Given the description of an element on the screen output the (x, y) to click on. 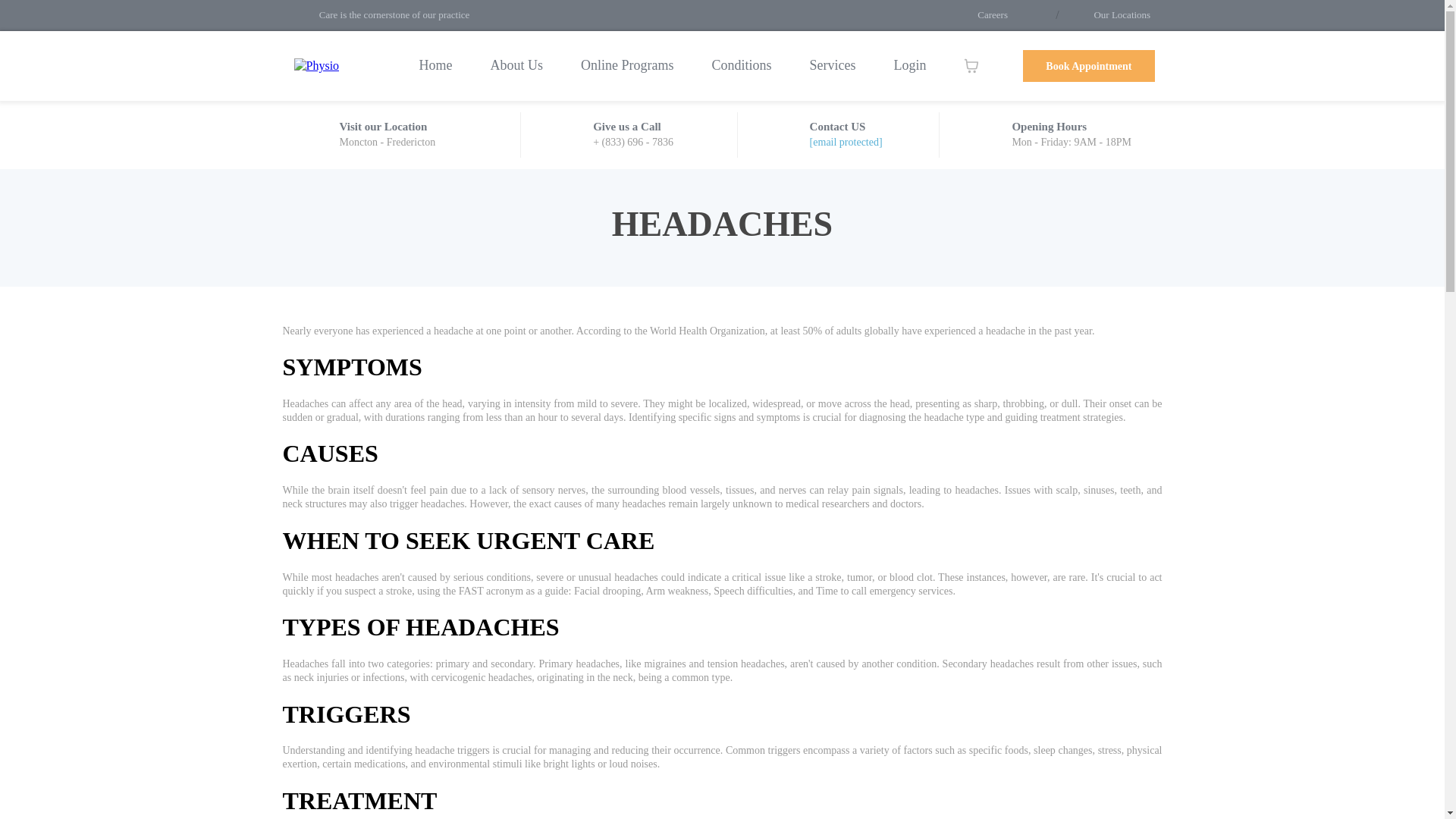
Conditions (741, 65)
Home (435, 65)
About Us (516, 65)
Login (909, 65)
Our Locations (1121, 14)
Services (832, 65)
Careers (991, 14)
Book Appointment (1088, 65)
Online Programs (627, 65)
